Given the description of an element on the screen output the (x, y) to click on. 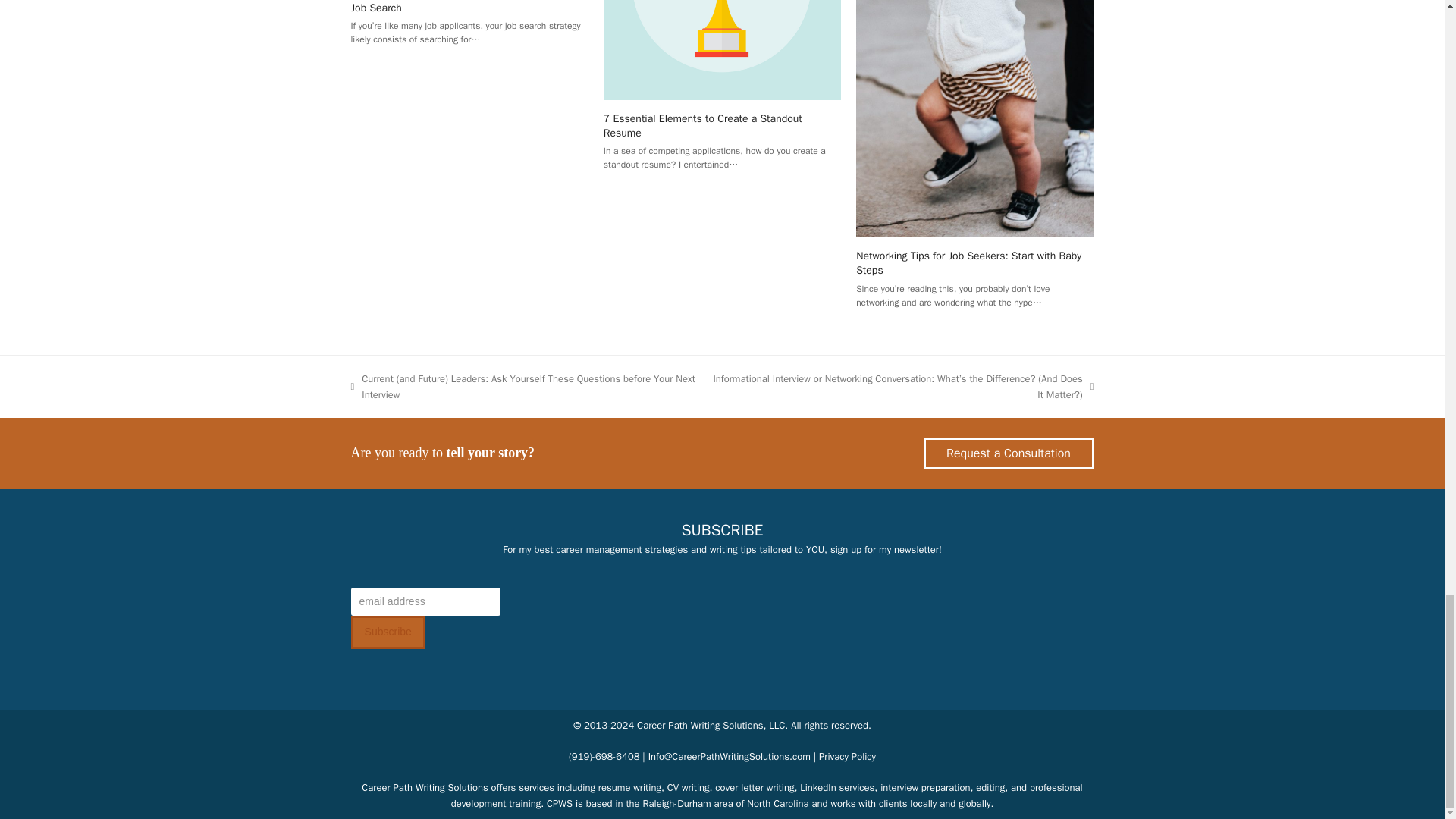
Subscribe (387, 632)
7 Essential Elements to Create a Standout Resume (703, 125)
Networking Tips for Job Seekers: Start with Baby Steps (974, 50)
Networking Tips for Job Seekers: Start with Baby Steps (968, 262)
Request a Consultation (1008, 453)
Subscribe (387, 632)
Land Your Ideal Job by Reverse Engineering Your Job Search (463, 7)
